Given the description of an element on the screen output the (x, y) to click on. 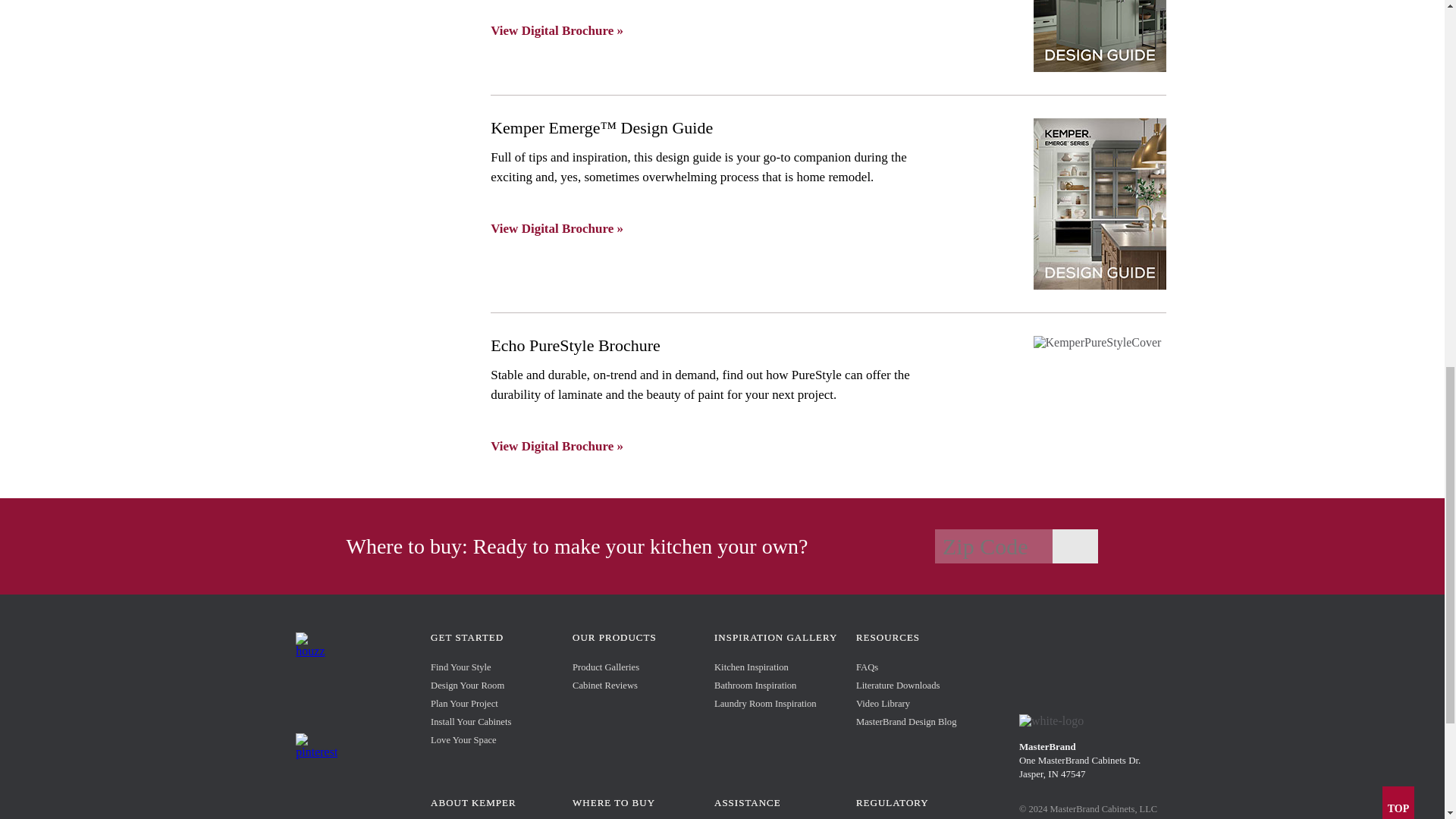
OUR PRODUCTS (614, 637)
Love Your Space (463, 739)
Install Your Cabinets (470, 721)
Design Your Room (466, 685)
GET STARTED (466, 637)
Plan Your Project (463, 703)
Product Galleries (605, 666)
Find Your Style (461, 666)
